Given the description of an element on the screen output the (x, y) to click on. 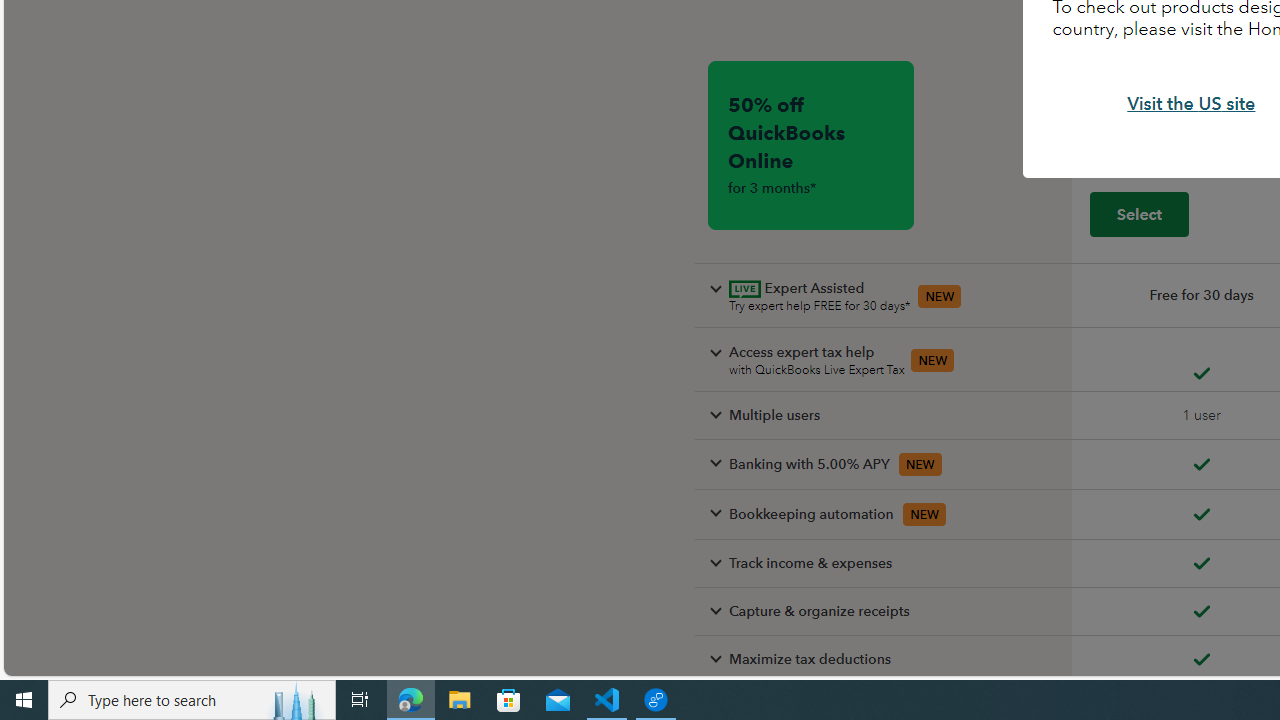
Visit the US site (1191, 103)
Select simple start (1139, 213)
